Given the description of an element on the screen output the (x, y) to click on. 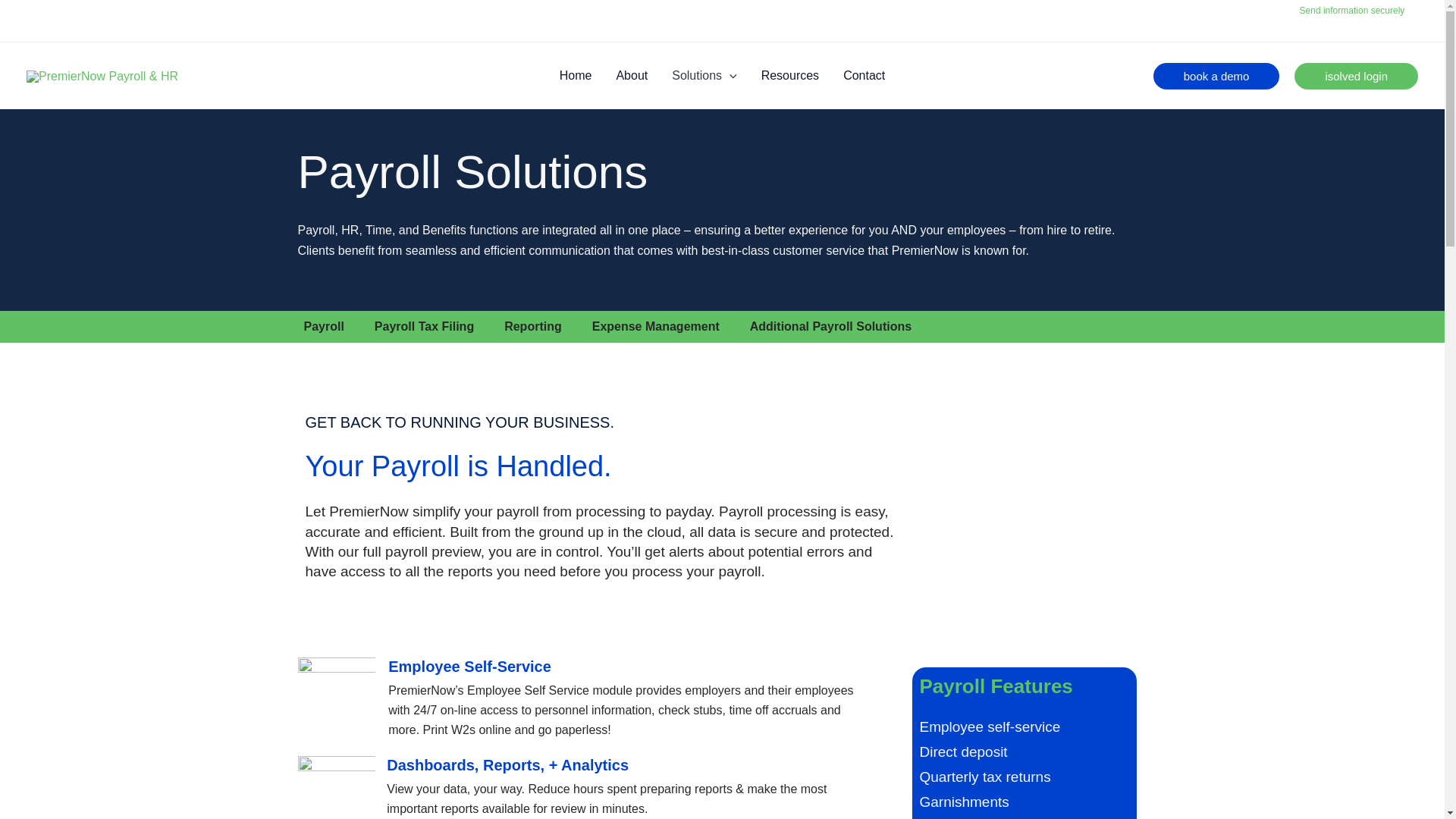
Solutions (703, 75)
curely  (1399, 9)
Send information se (1340, 9)
Resources (790, 75)
isolved login (1356, 76)
book a demo (1216, 76)
Contact (863, 75)
